Given the description of an element on the screen output the (x, y) to click on. 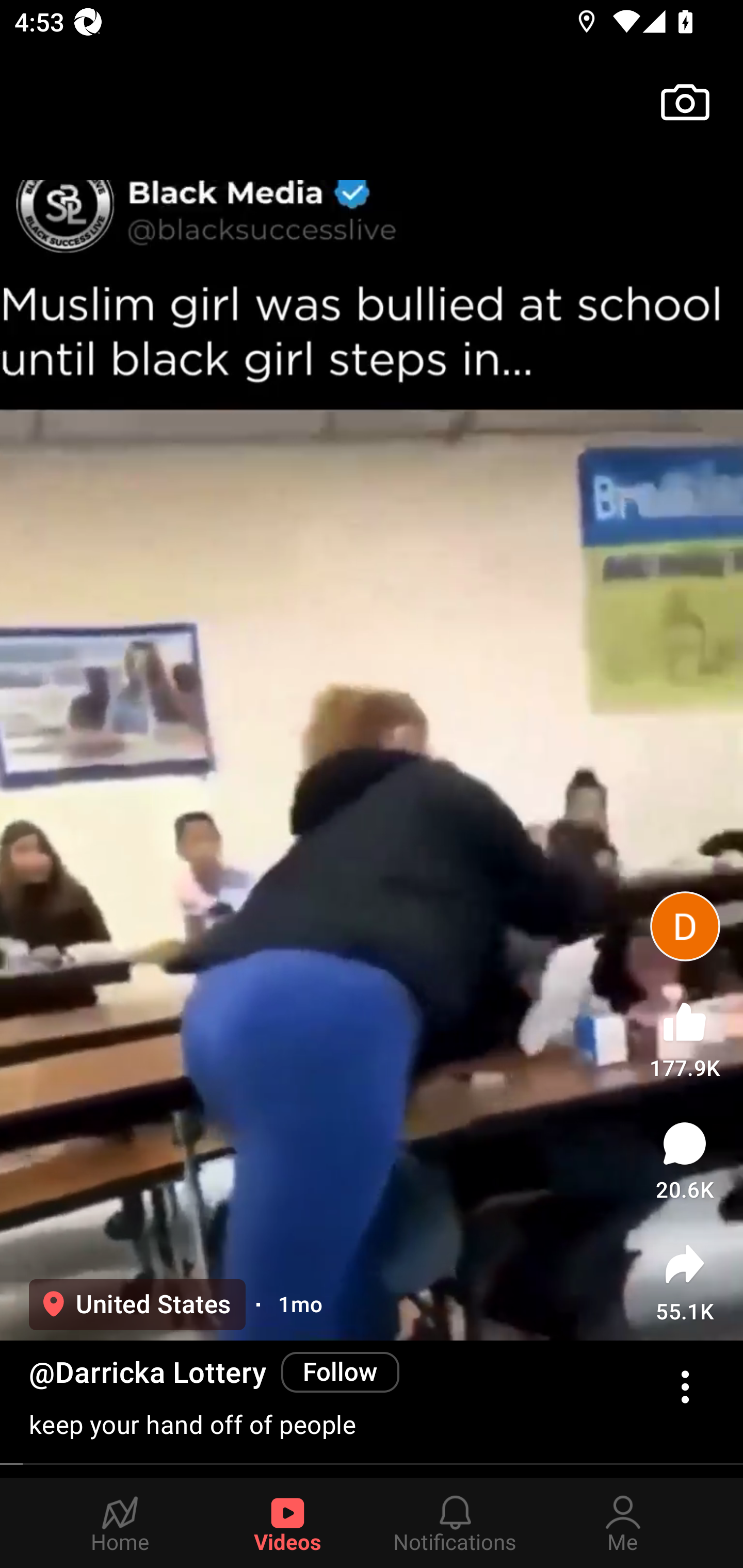
177.9K (684, 1035)
20.6K (685, 1160)
55.1K (685, 1282)
United States (136, 1304)
Follow (339, 1371)
@Darricka Lottery (147, 1373)
Home (119, 1522)
Notifications (455, 1522)
Me (622, 1522)
